Given the description of an element on the screen output the (x, y) to click on. 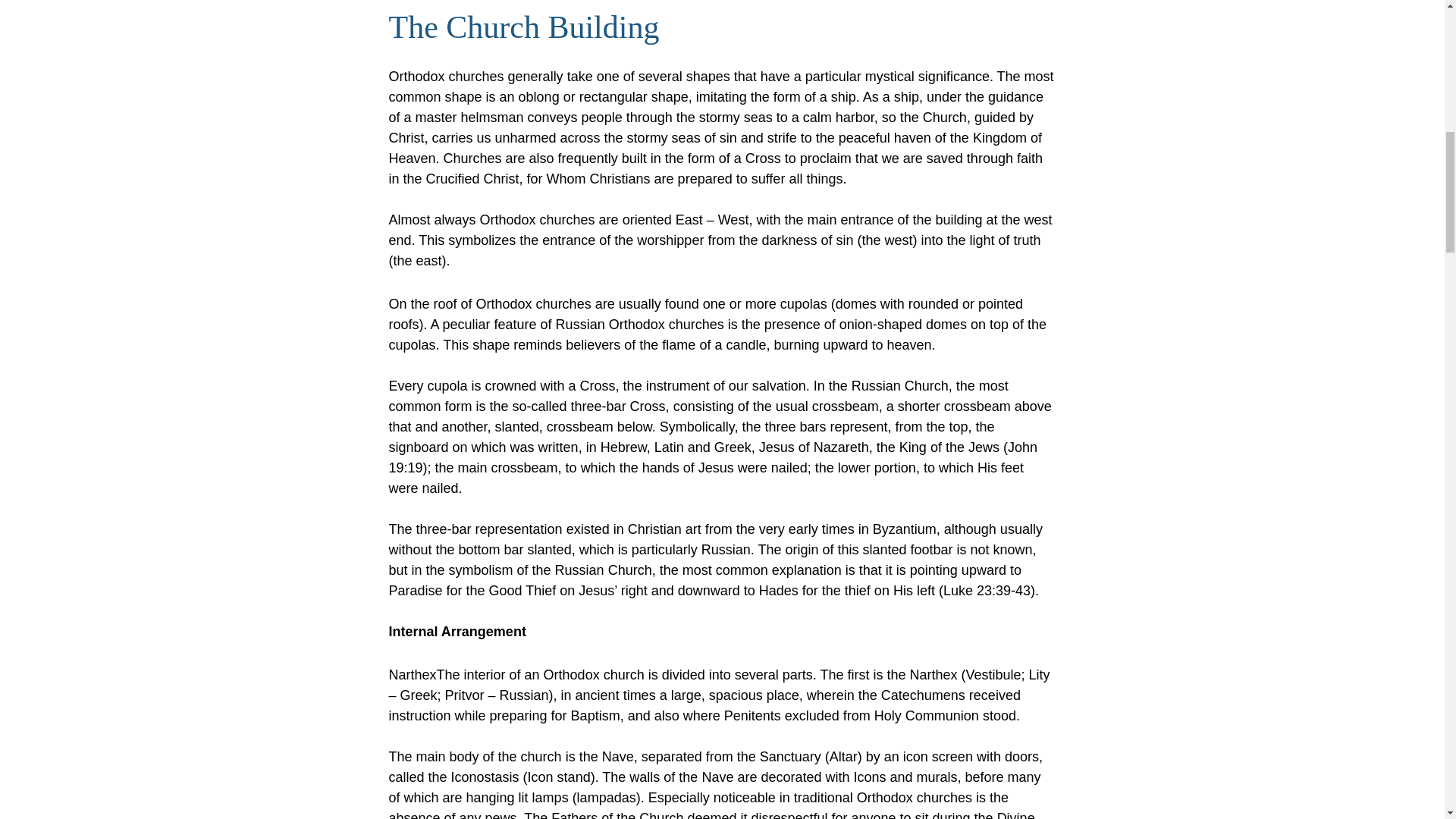
CVE (969, 45)
CRC (969, 13)
DOP (969, 184)
DJF (969, 114)
CZK (969, 80)
DZD (969, 219)
DKK (969, 149)
